Given the description of an element on the screen output the (x, y) to click on. 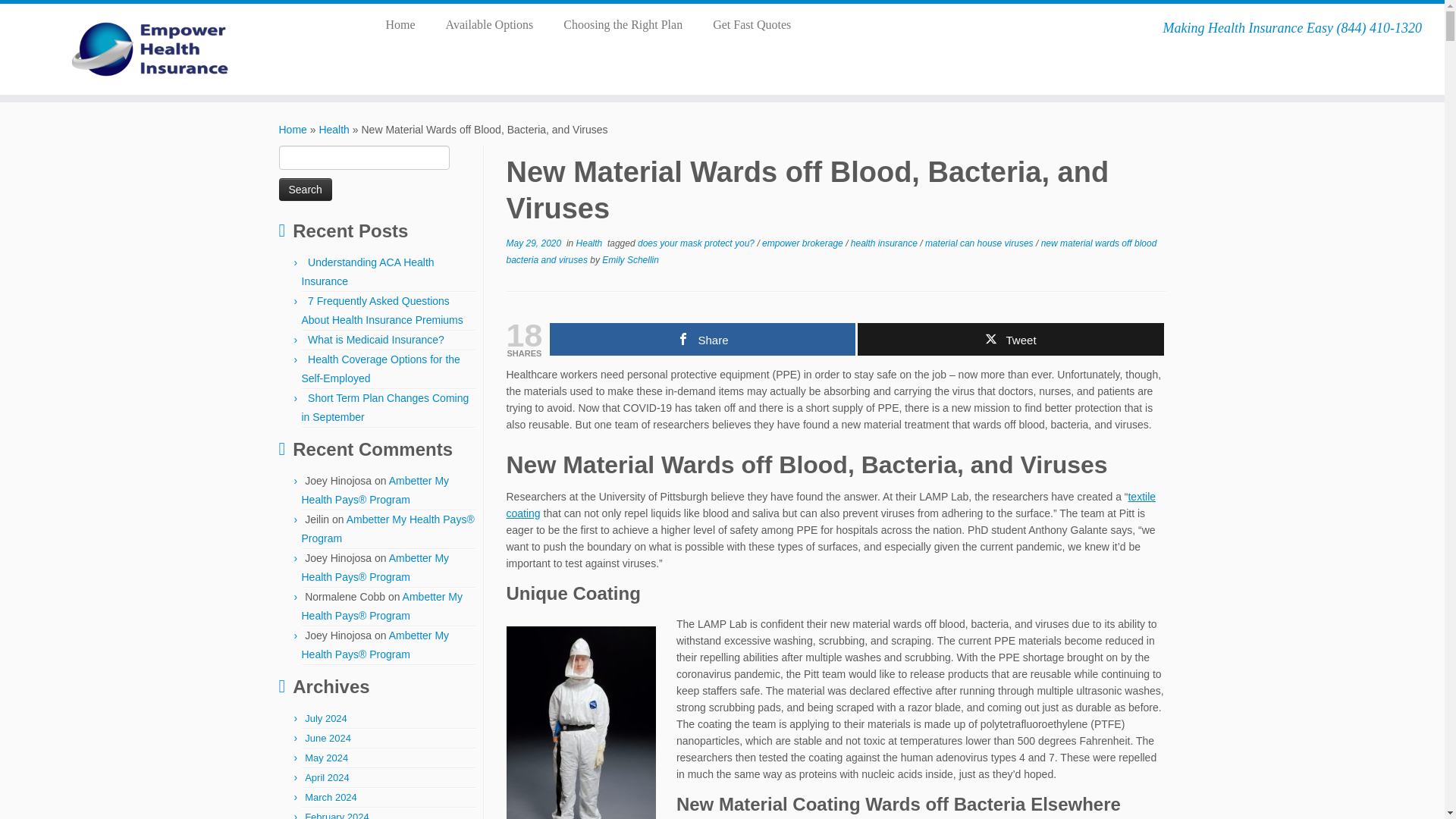
February 2024 (336, 815)
Health Coverage Options for the Self-Employed (380, 368)
View all posts in material can house viruses (979, 243)
Search (305, 189)
March 2024 (330, 797)
View all posts in does your mask protect you? (697, 243)
Search (305, 189)
Short Term Plan Changes Coming in September (384, 407)
View all posts in empower brokerage (803, 243)
May 2024 (325, 757)
View all posts in Health (590, 243)
View all posts in health insurance (885, 243)
10:21 am (534, 243)
Available Options (489, 24)
Health (333, 129)
